Given the description of an element on the screen output the (x, y) to click on. 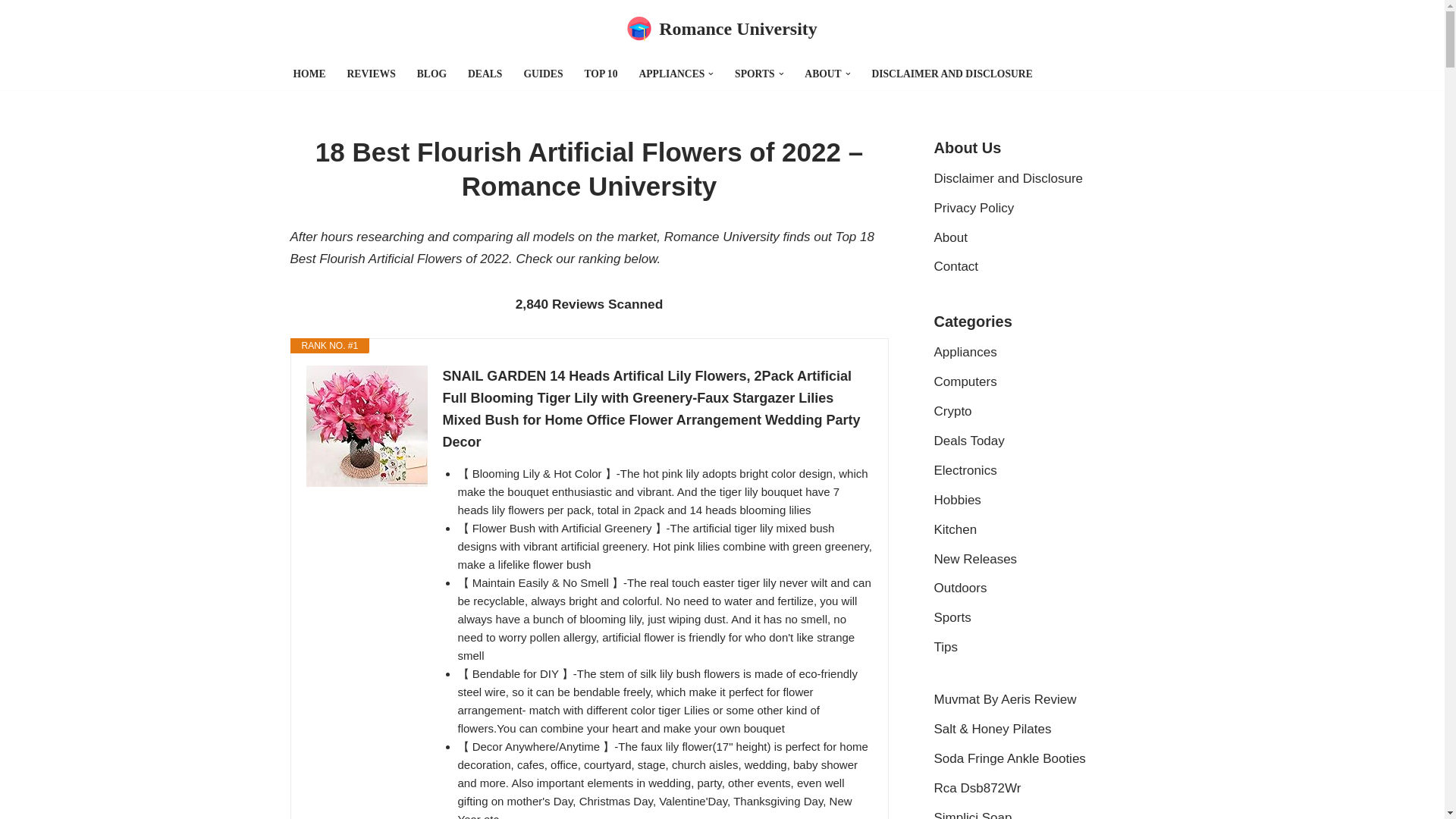
HOME (308, 73)
BLOG (431, 73)
TOP 10 (600, 73)
ABOUT (823, 73)
REVIEWS (371, 73)
DEALS (484, 73)
Romance University (721, 29)
Romance University (721, 29)
SPORTS (754, 73)
GUIDES (542, 73)
Skip to content (11, 31)
DISCLAIMER AND DISCLOSURE (951, 73)
APPLIANCES (671, 73)
